Given the description of an element on the screen output the (x, y) to click on. 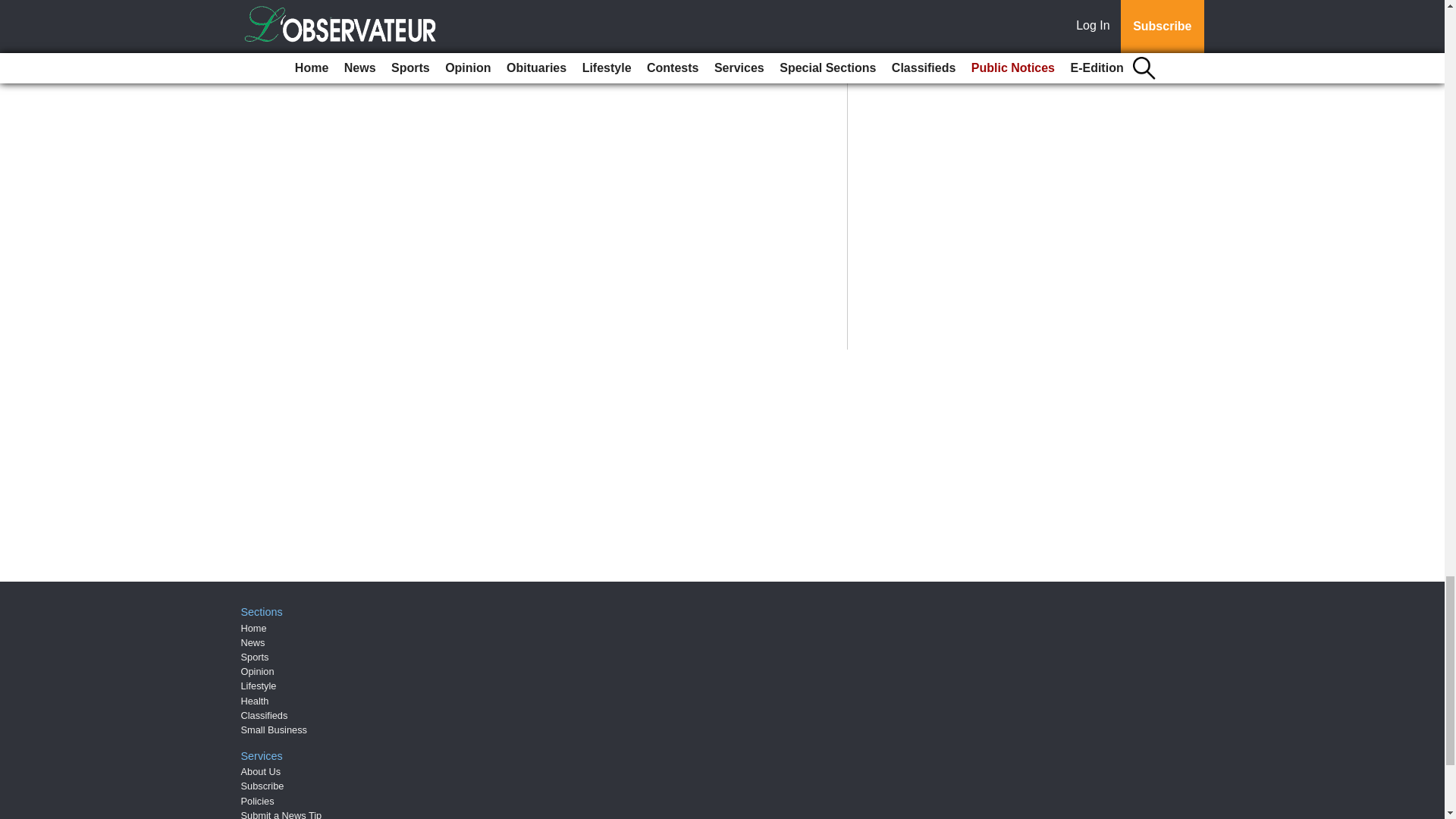
News (252, 642)
Home (253, 627)
